Given the description of an element on the screen output the (x, y) to click on. 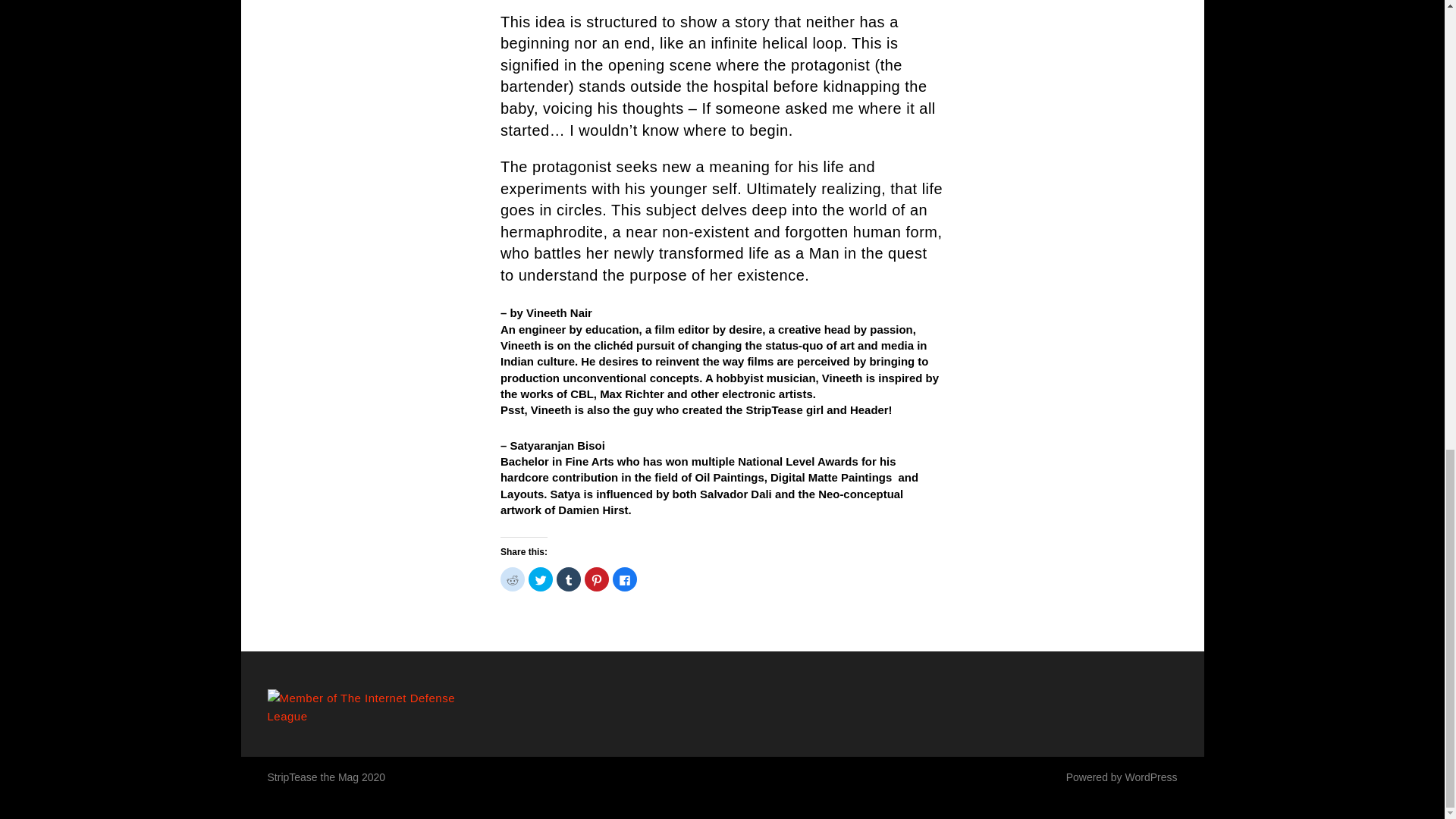
Click to share on Pinterest (596, 579)
Click to share on Reddit (512, 579)
Click to share on Tumblr (568, 579)
Click to share on Facebook (624, 579)
Click to share on Twitter (540, 579)
